Given the description of an element on the screen output the (x, y) to click on. 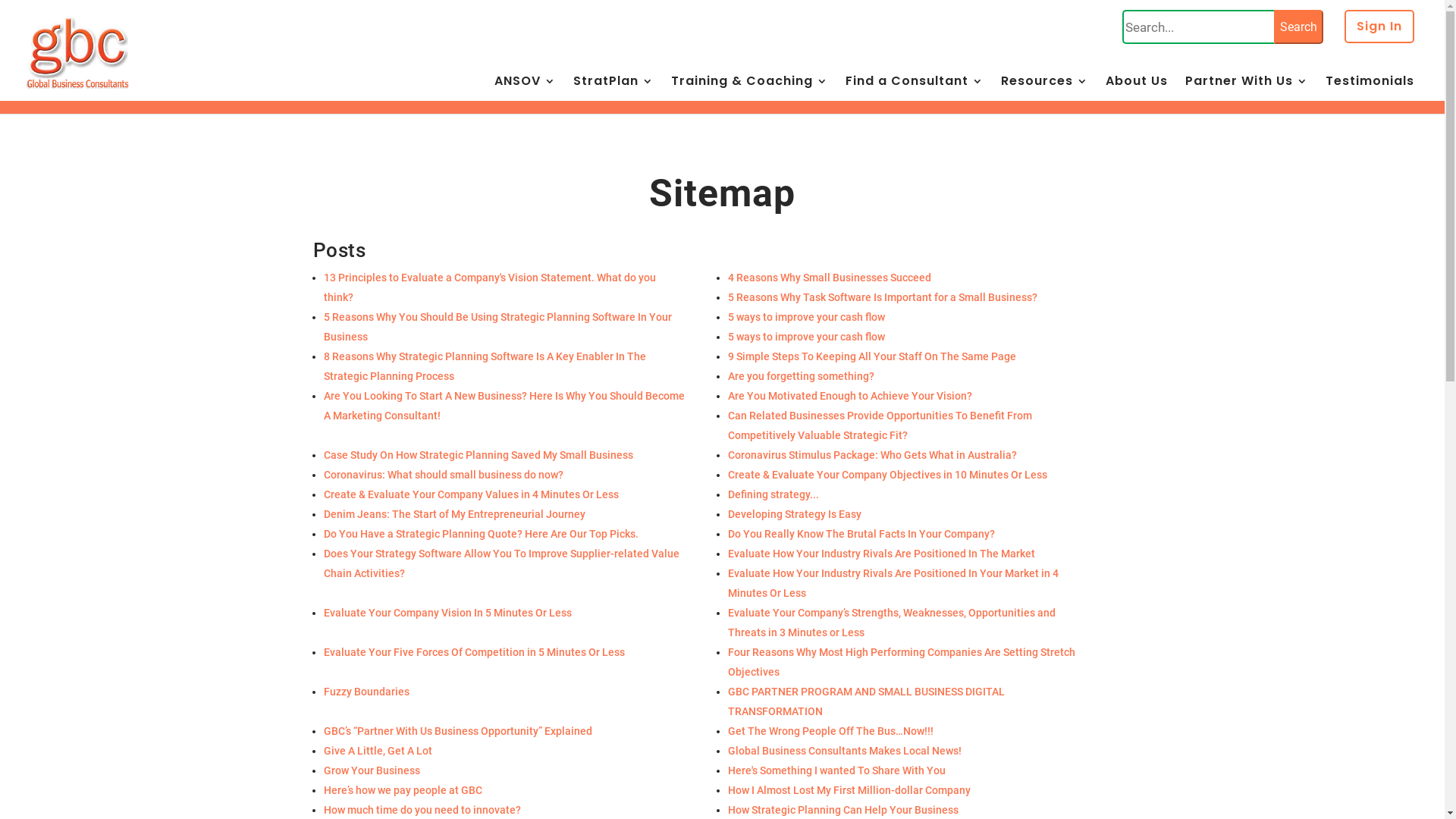
How I Almost Lost My First Million-dollar Company Element type: text (910, 790)
Developing Strategy Is Easy Element type: text (910, 514)
Fuzzy Boundaries Element type: text (505, 691)
StratPlan Element type: text (613, 90)
Evaluate Your Company Vision In 5 Minutes Or Less Element type: text (505, 612)
Denim Jeans: The Start of My Entrepreneurial Journey Element type: text (505, 514)
Coronavirus Stimulus Package: Who Gets What in Australia? Element type: text (910, 454)
Search Element type: text (1298, 26)
About Us Element type: text (1136, 90)
Create & Evaluate Your Company Values in 4 Minutes Or Less Element type: text (505, 494)
Resources Element type: text (1044, 90)
Do You Really Know The Brutal Facts In Your Company? Element type: text (910, 533)
Sign In Element type: text (1379, 33)
Are you forgetting something? Element type: text (910, 375)
9 Simple Steps To Keeping All Your Staff On The Same Page Element type: text (910, 356)
Are You Motivated Enough to Achieve Your Vision? Element type: text (910, 395)
Defining strategy... Element type: text (910, 494)
Global Business Consultants Makes Local News! Element type: text (910, 750)
Give A Little, Get A Lot Element type: text (505, 750)
Testimonials Element type: text (1369, 90)
5 ways to improve your cash flow Element type: text (910, 336)
Here's Something I wanted To Share With You Element type: text (910, 770)
Grow Your Business Element type: text (505, 770)
Coronavirus: What should small business do now? Element type: text (505, 474)
Partner With Us Element type: text (1246, 90)
4 Reasons Why Small Businesses Succeed Element type: text (910, 277)
5 ways to improve your cash flow Element type: text (910, 316)
Training & Coaching Element type: text (749, 90)
ANSOV Element type: text (524, 90)
Case Study On How Strategic Planning Saved My Small Business Element type: text (505, 454)
Find a Consultant Element type: text (914, 90)
